Given the description of an element on the screen output the (x, y) to click on. 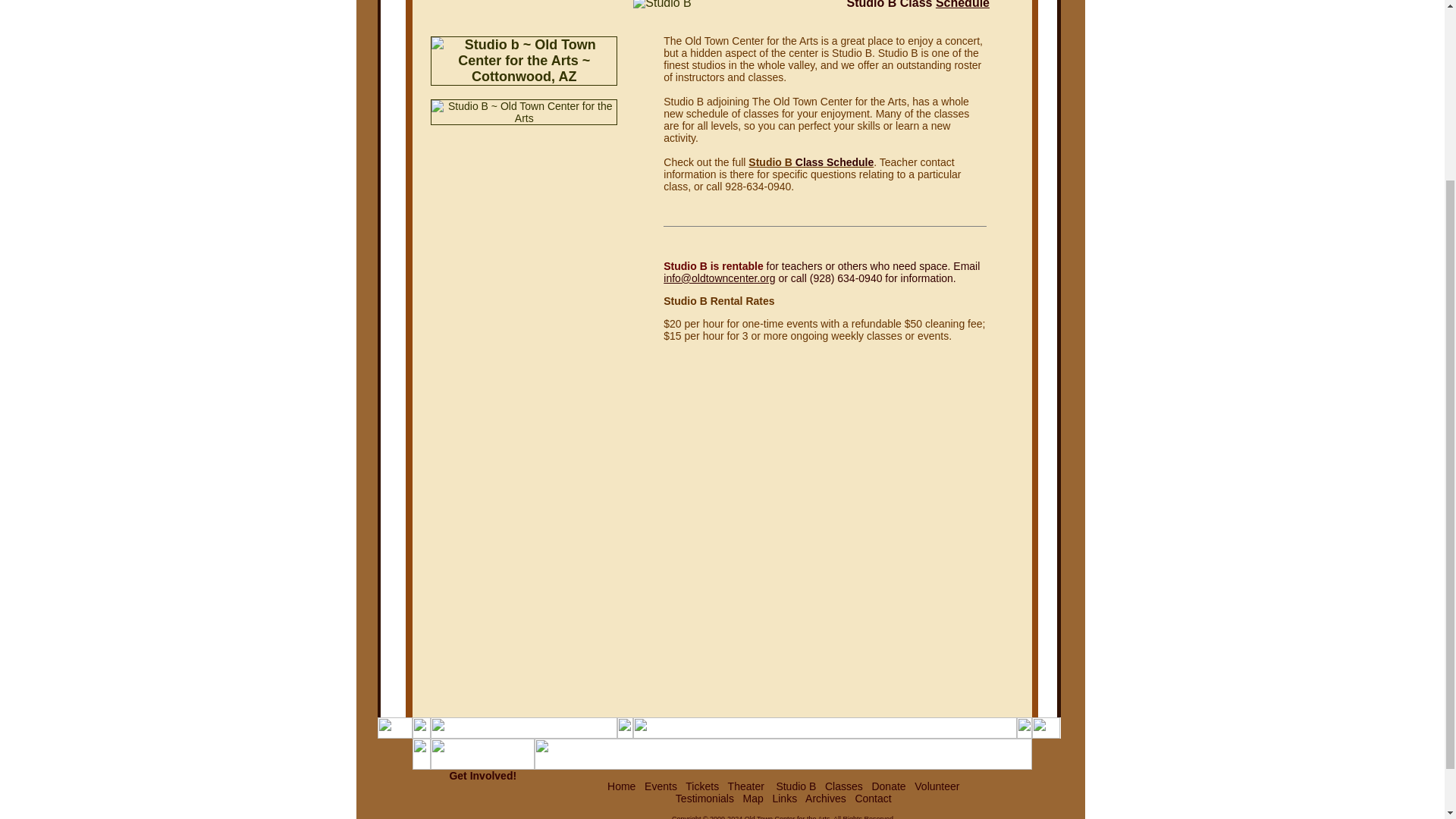
Home (620, 786)
Studio B (794, 786)
Class Schedule (834, 162)
Map (752, 798)
or (783, 277)
Theater (746, 786)
Get Involved! (482, 775)
Tickets (702, 786)
Volunteer (936, 786)
Events (661, 786)
Classes (844, 786)
Contact (872, 798)
Archives (825, 798)
Links (783, 798)
Studio B Class Schedule (918, 4)
